Given the description of an element on the screen output the (x, y) to click on. 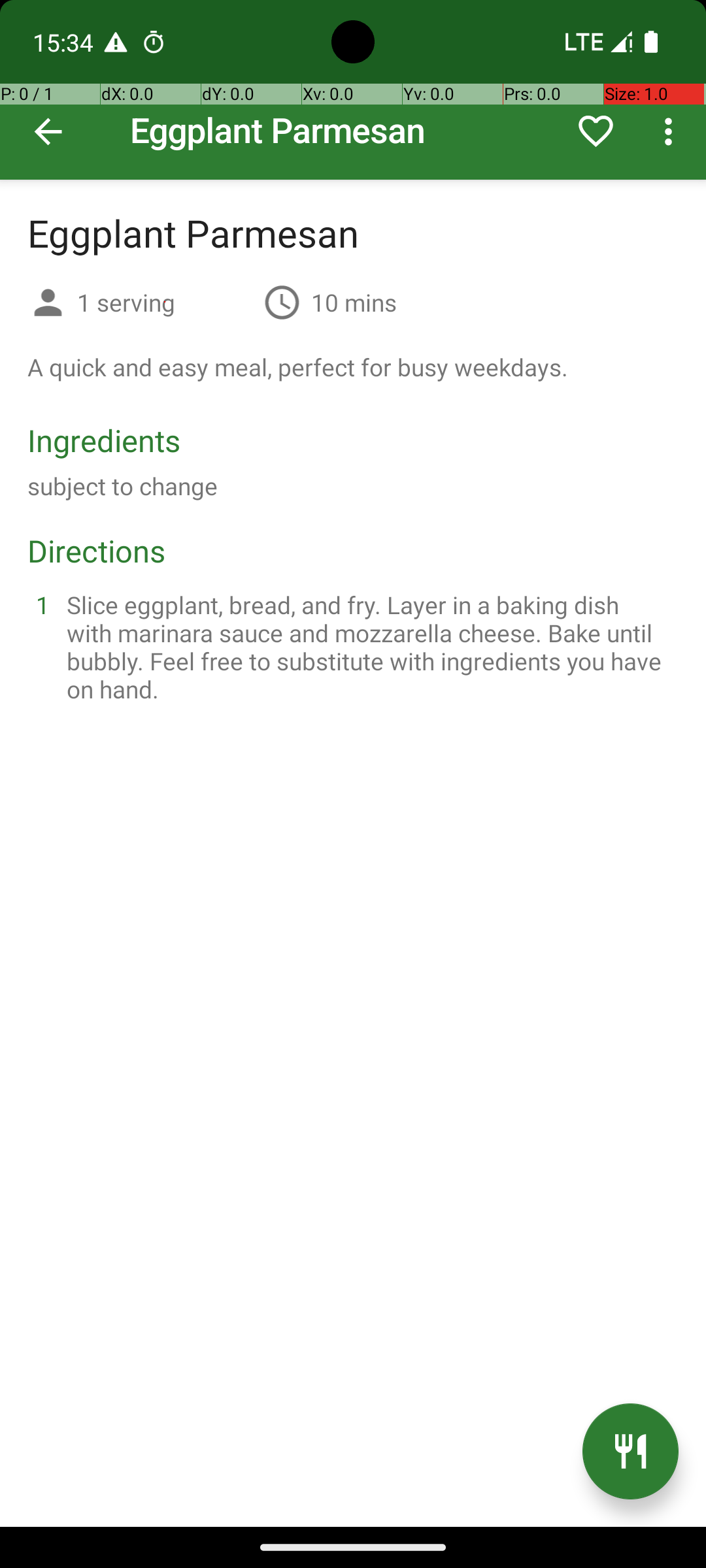
Eggplant Parmesan Element type: android.widget.FrameLayout (353, 89)
10 mins Element type: android.widget.TextView (353, 301)
subject to change Element type: android.widget.TextView (122, 485)
Slice eggplant, bread, and fry. Layer in a baking dish with marinara sauce and mozzarella cheese. Bake until bubbly. Feel free to substitute with ingredients you have on hand. Element type: android.widget.TextView (368, 646)
